Given the description of an element on the screen output the (x, y) to click on. 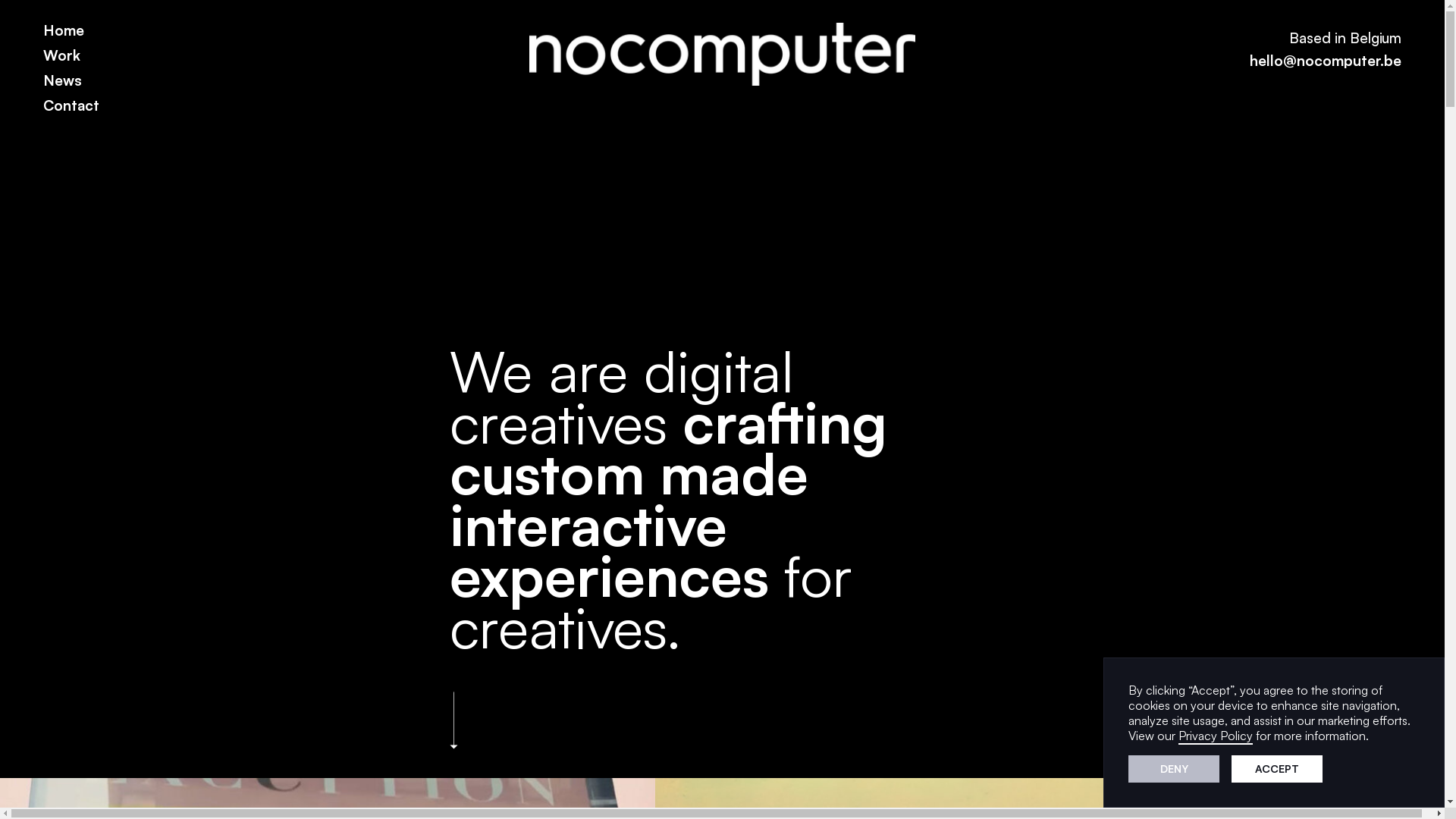
Work Element type: text (61, 56)
hello@nocomputer.be Element type: text (1325, 62)
Privacy Policy Element type: text (1215, 736)
Home Element type: text (63, 31)
ACCEPT Element type: text (1276, 768)
News Element type: text (62, 81)
Contact Element type: text (71, 106)
DENY Element type: text (1173, 768)
